Given the description of an element on the screen output the (x, y) to click on. 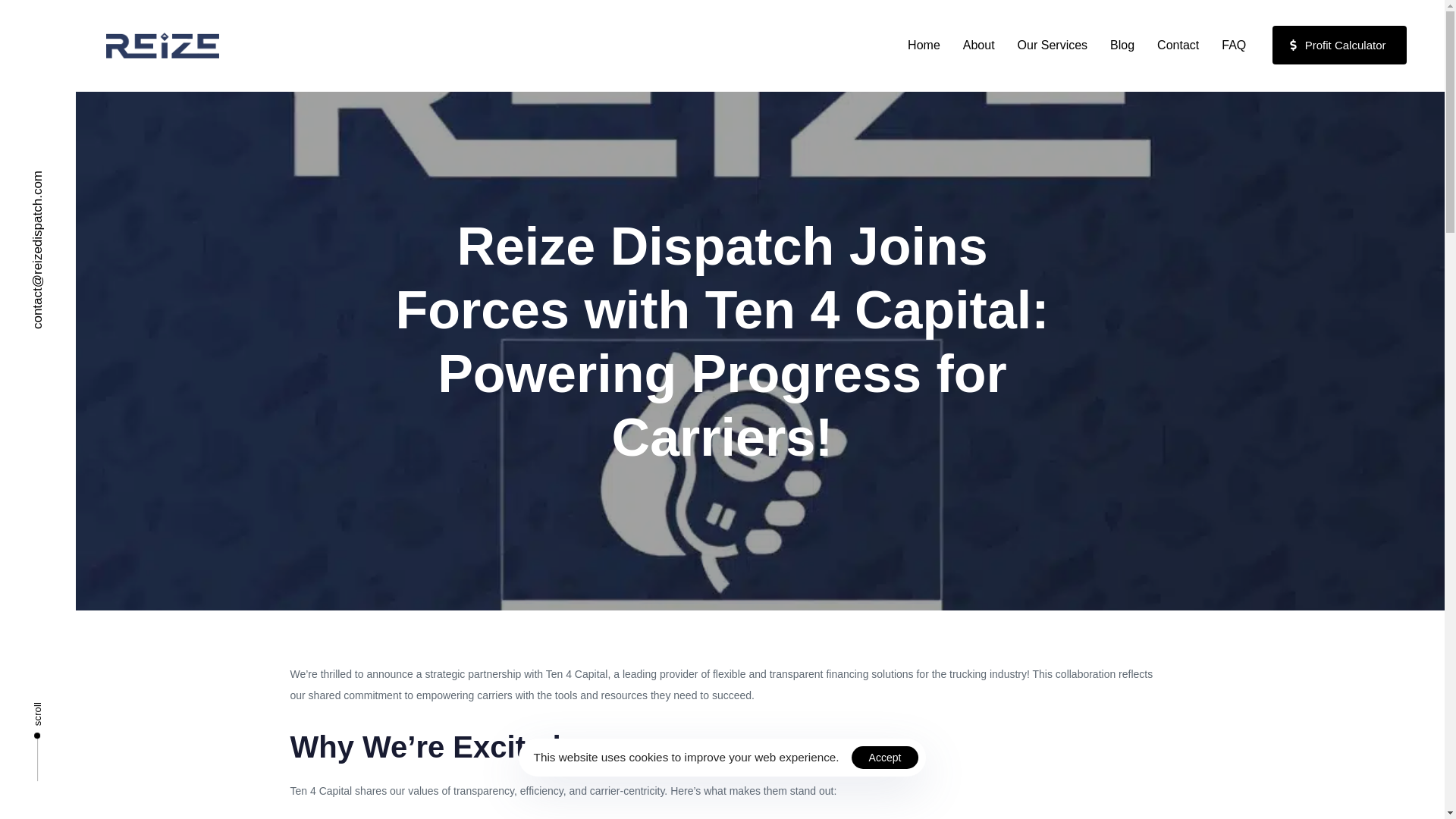
Profit Calculator (1339, 44)
Our Services (1052, 45)
